Given the description of an element on the screen output the (x, y) to click on. 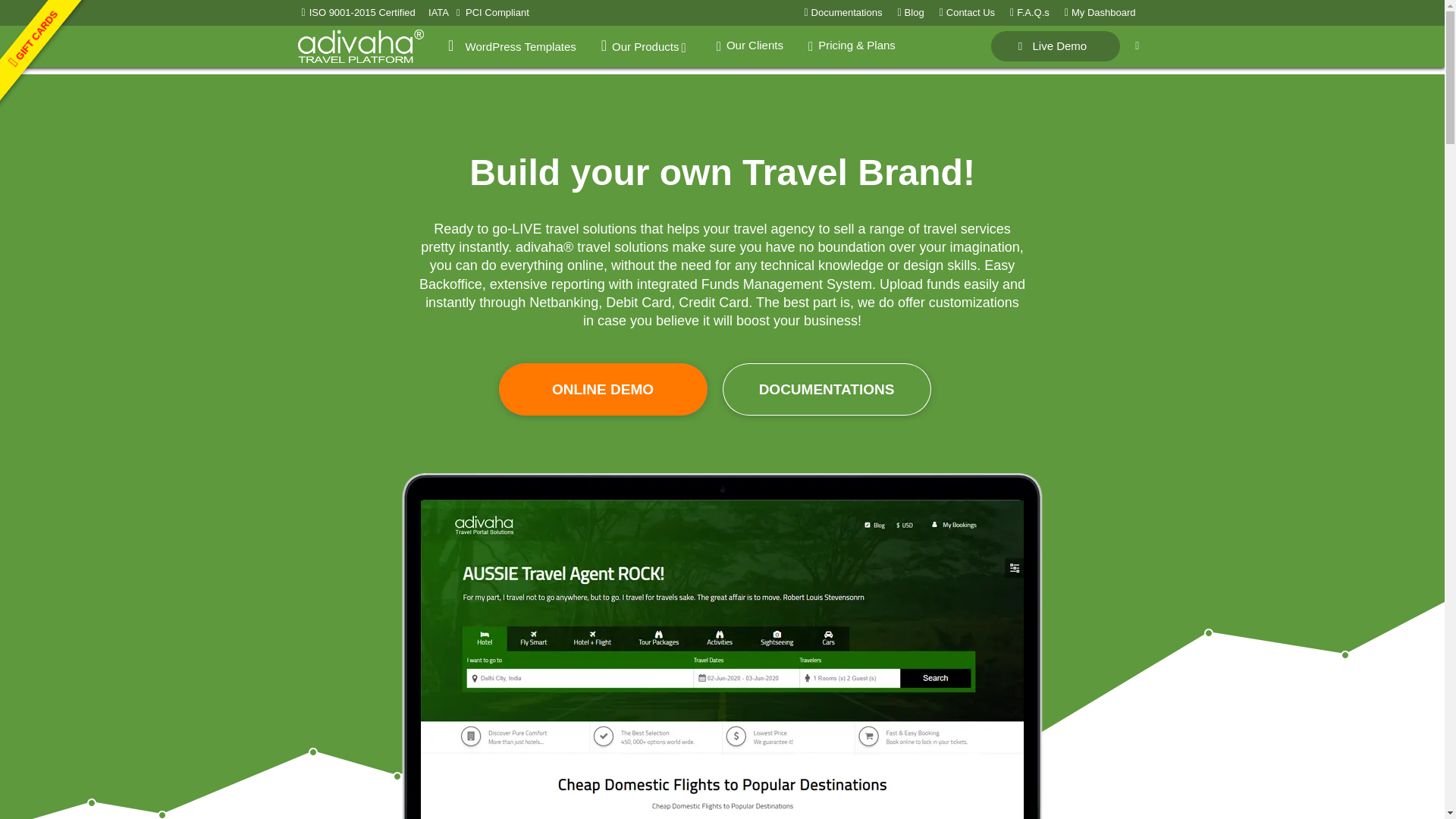
  WordPress Templates (510, 46)
Documentations (842, 12)
Blog (910, 12)
F.A.Q.s (1030, 12)
DOCUMENTATIONS (826, 389)
Contact Us (967, 12)
My Dashboard (1099, 12)
Contact Us (967, 12)
Blog (910, 12)
Documentations (842, 12)
